Given the description of an element on the screen output the (x, y) to click on. 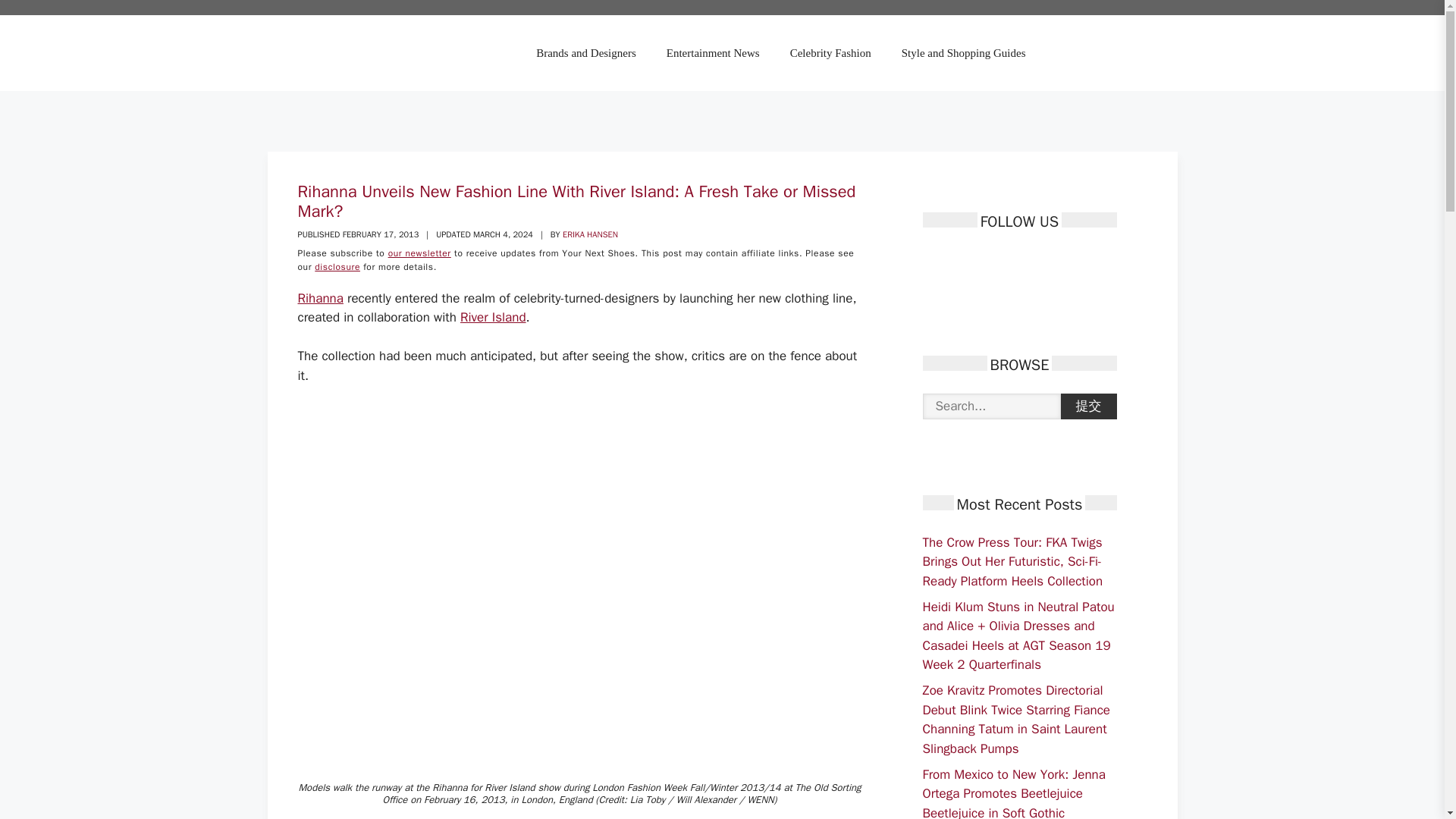
Brands and Designers (585, 53)
Instagram (1014, 261)
Facebook (932, 261)
Style and Shopping Guides (963, 53)
Celebrity Fashion (830, 53)
ERIKA HANSEN (589, 234)
Pinterest (986, 261)
our newsletter (419, 253)
Entertainment News (712, 53)
